Given the description of an element on the screen output the (x, y) to click on. 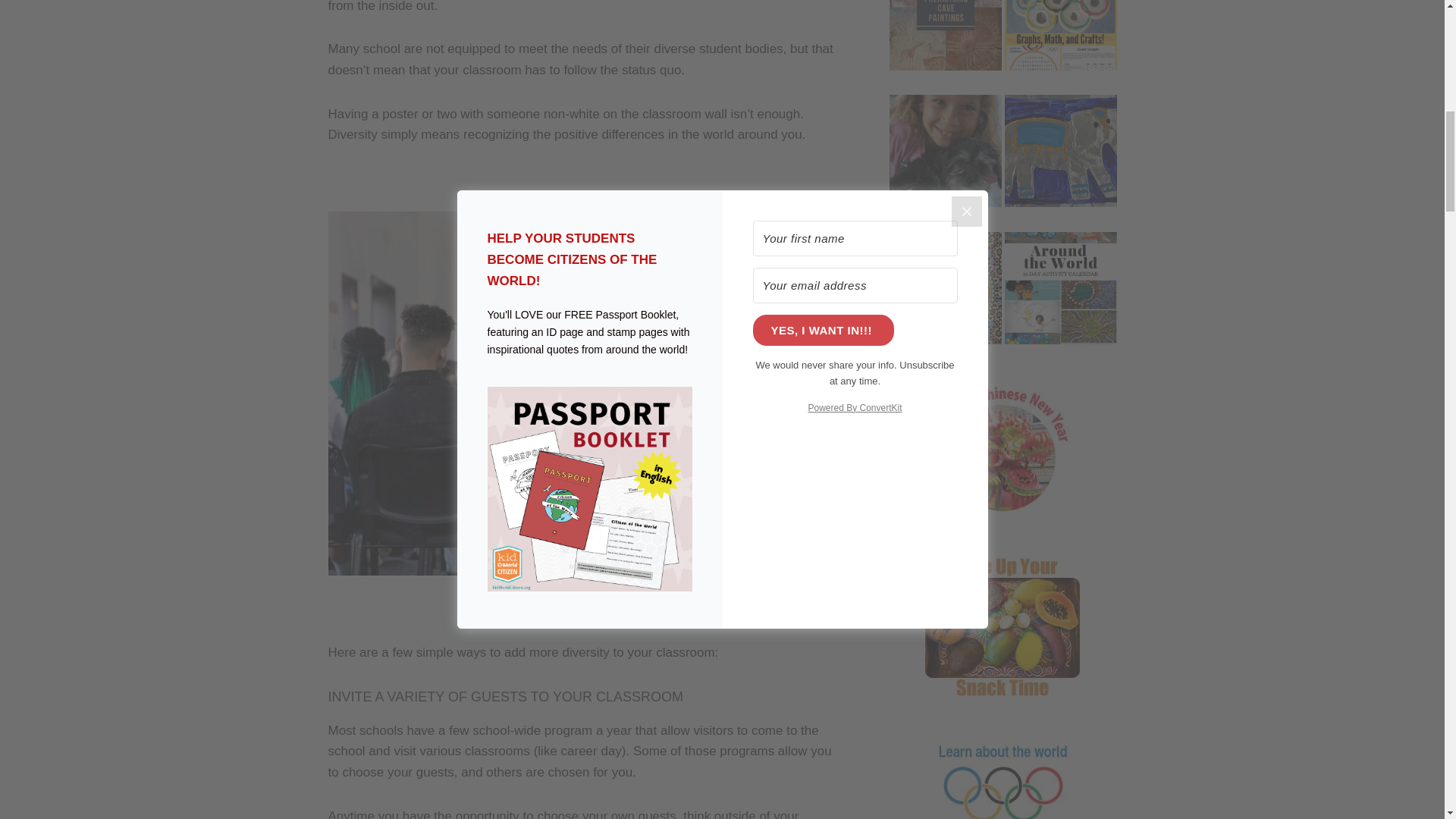
Islamic Art Lesson for Kids: A Look at Arabic Tiles (944, 298)
Try this Gorgeous Asian Elephant Craft (1060, 162)
Olympics Activities for Kids (1060, 46)
Learn about and Visit Early Human Cave Paintings (944, 46)
Free Download: Around the World in 30 Days Activity Calendar (1060, 298)
